Given the description of an element on the screen output the (x, y) to click on. 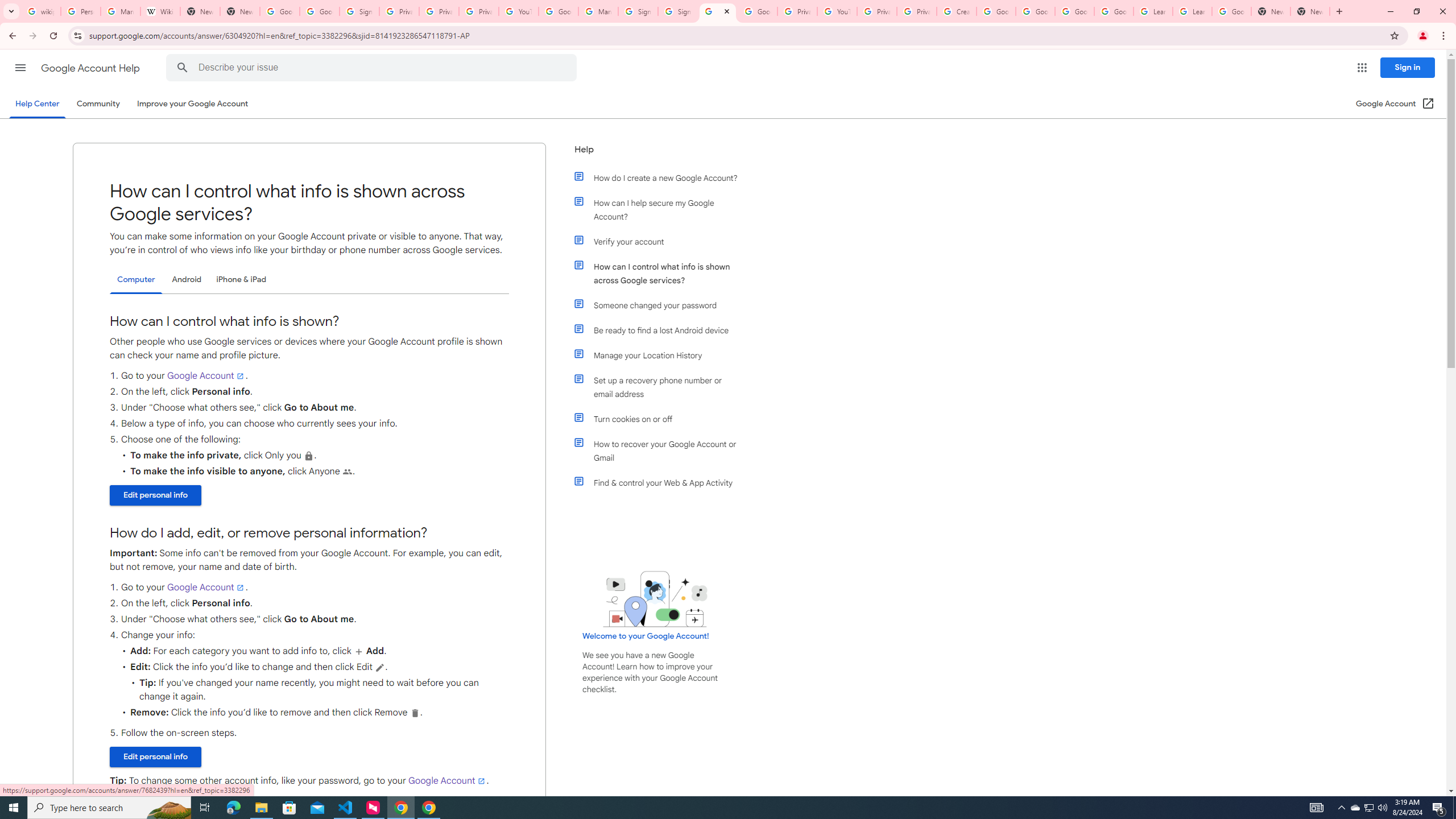
Turn cookies on or off (661, 419)
Personalization & Google Search results - Google Search Help (80, 11)
Welcome to your Google Account! (645, 635)
Google Account (1231, 11)
How can I control what info is shown across Google services? (661, 273)
Android (186, 279)
Google Account Help (1034, 11)
Manage your Location History (661, 355)
Community (97, 103)
